Given the description of an element on the screen output the (x, y) to click on. 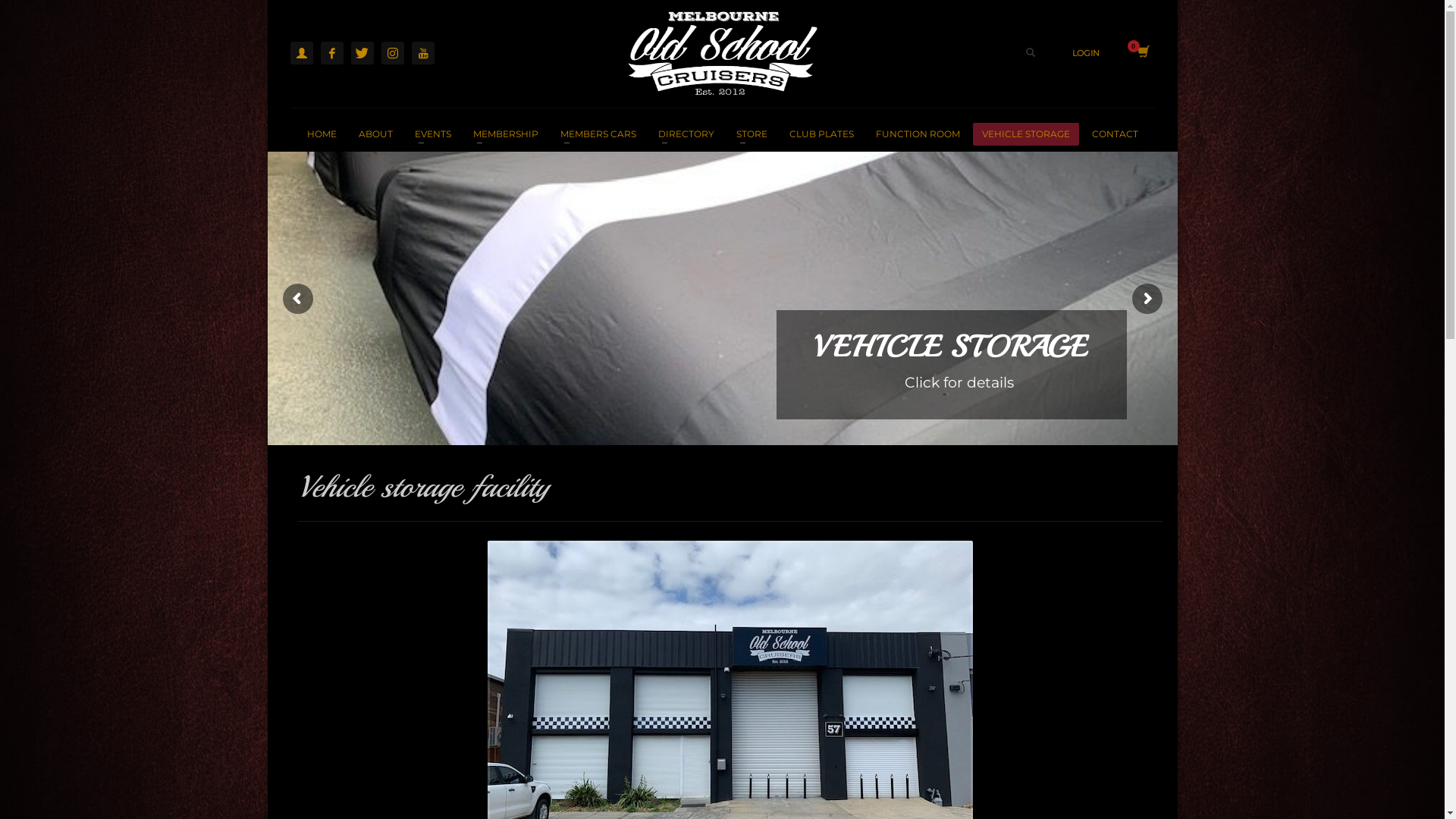
Instagram Element type: hover (391, 51)
EVENTS Element type: text (431, 133)
MEMBERS CARS Element type: text (597, 133)
Facebook Element type: hover (331, 51)
HOME Element type: text (321, 133)
VEHICLE STORAGE Element type: text (1025, 133)
FUNCTION ROOM Element type: text (917, 133)
MEMBERSHIP Element type: text (505, 133)
ABOUT Element type: text (374, 133)
CONTACT Element type: text (1114, 133)
CLUB PLATES Element type: text (820, 133)
STORE Element type: text (750, 133)
Twitter Element type: hover (361, 51)
YouTube Element type: hover (422, 51)
LOGIN Element type: text (1085, 52)
View your shopping cart Element type: hover (1141, 52)
DIRECTORY Element type: text (686, 133)
